Given the description of an element on the screen output the (x, y) to click on. 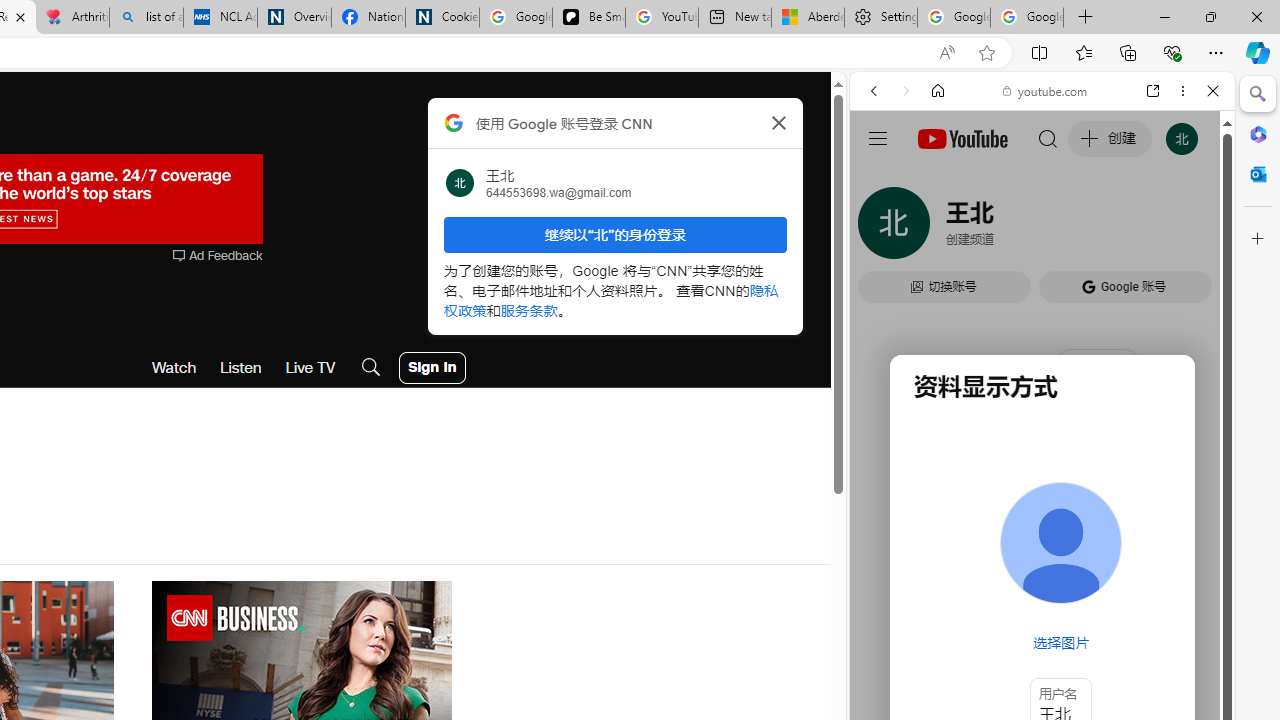
list of asthma inhalers uk - Search (146, 17)
Class: b_serphb (1190, 229)
Be Smart | creating Science videos | Patreon (588, 17)
Search Filter, IMAGES (939, 228)
